Given the description of an element on the screen output the (x, y) to click on. 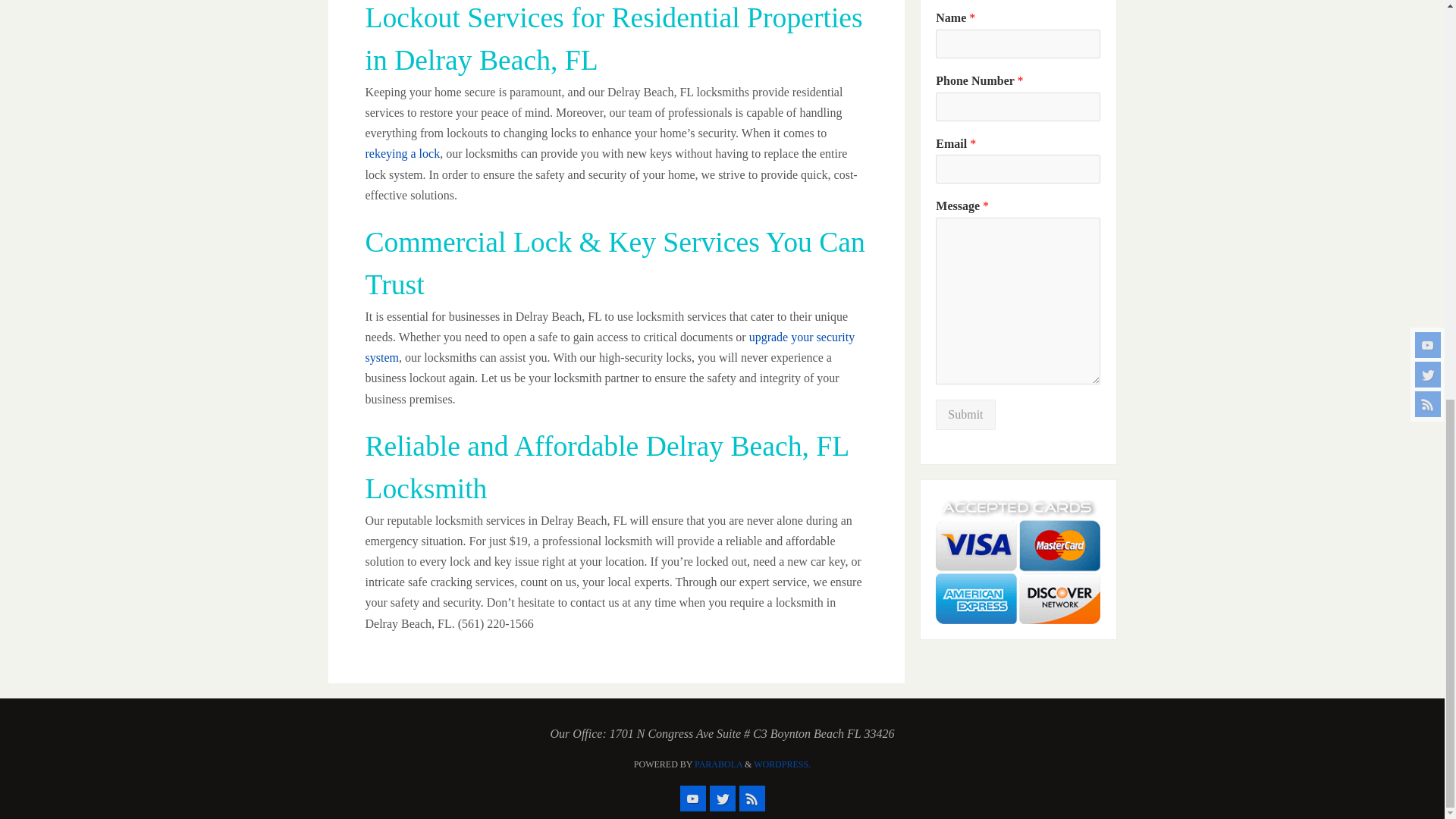
Semantic Personal Publishing Platform (782, 764)
upgrade your security system (610, 346)
WORDPRESS. (782, 764)
PARABOLA (718, 764)
rekeying a lock (403, 153)
YouTube (691, 798)
Submit (965, 414)
RSS (751, 798)
Parabola Theme by Cryout Creations (718, 764)
Twitter (722, 798)
